Given the description of an element on the screen output the (x, y) to click on. 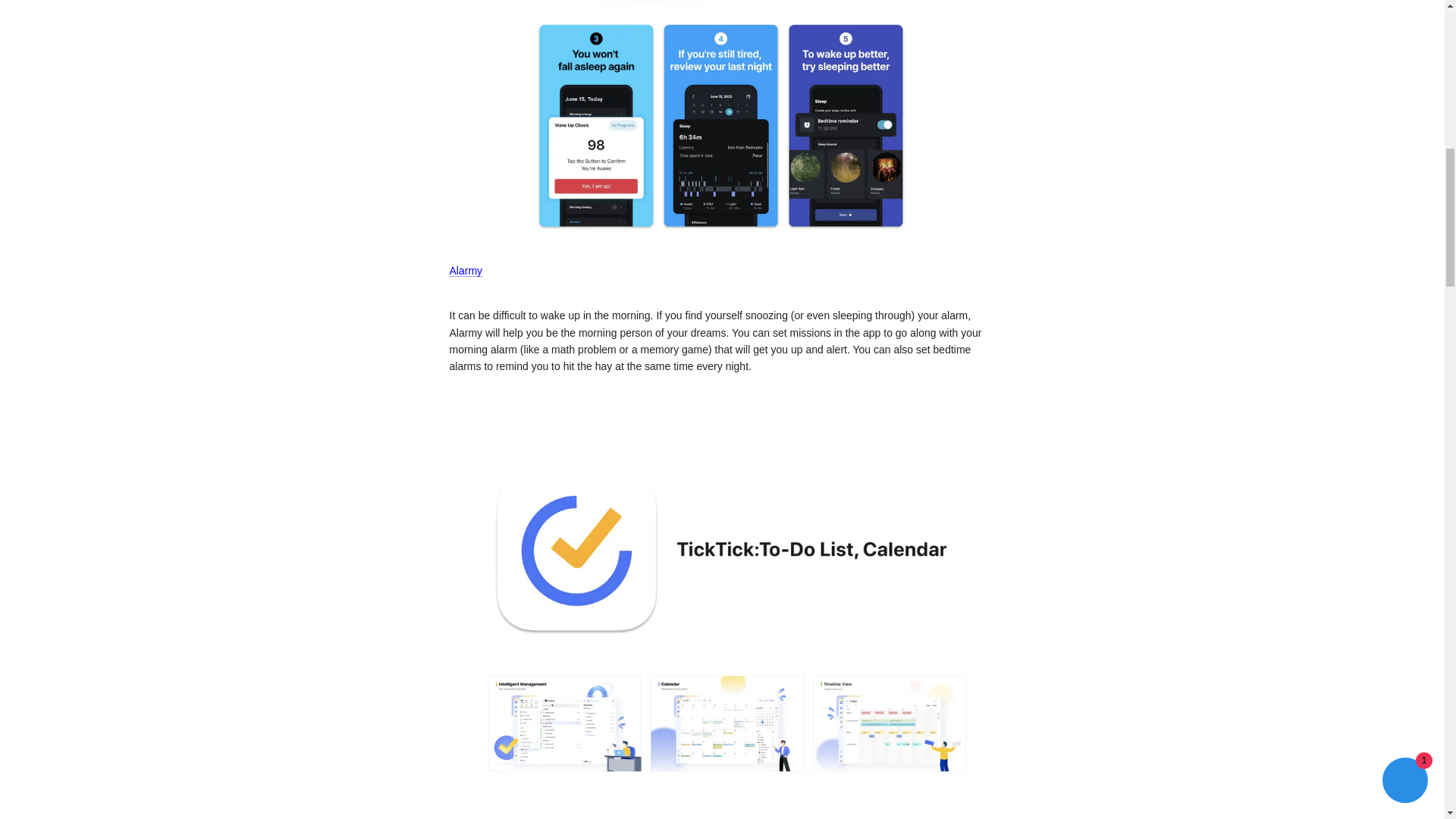
Alarmy (721, 236)
Alarmy (464, 270)
